Given the description of an element on the screen output the (x, y) to click on. 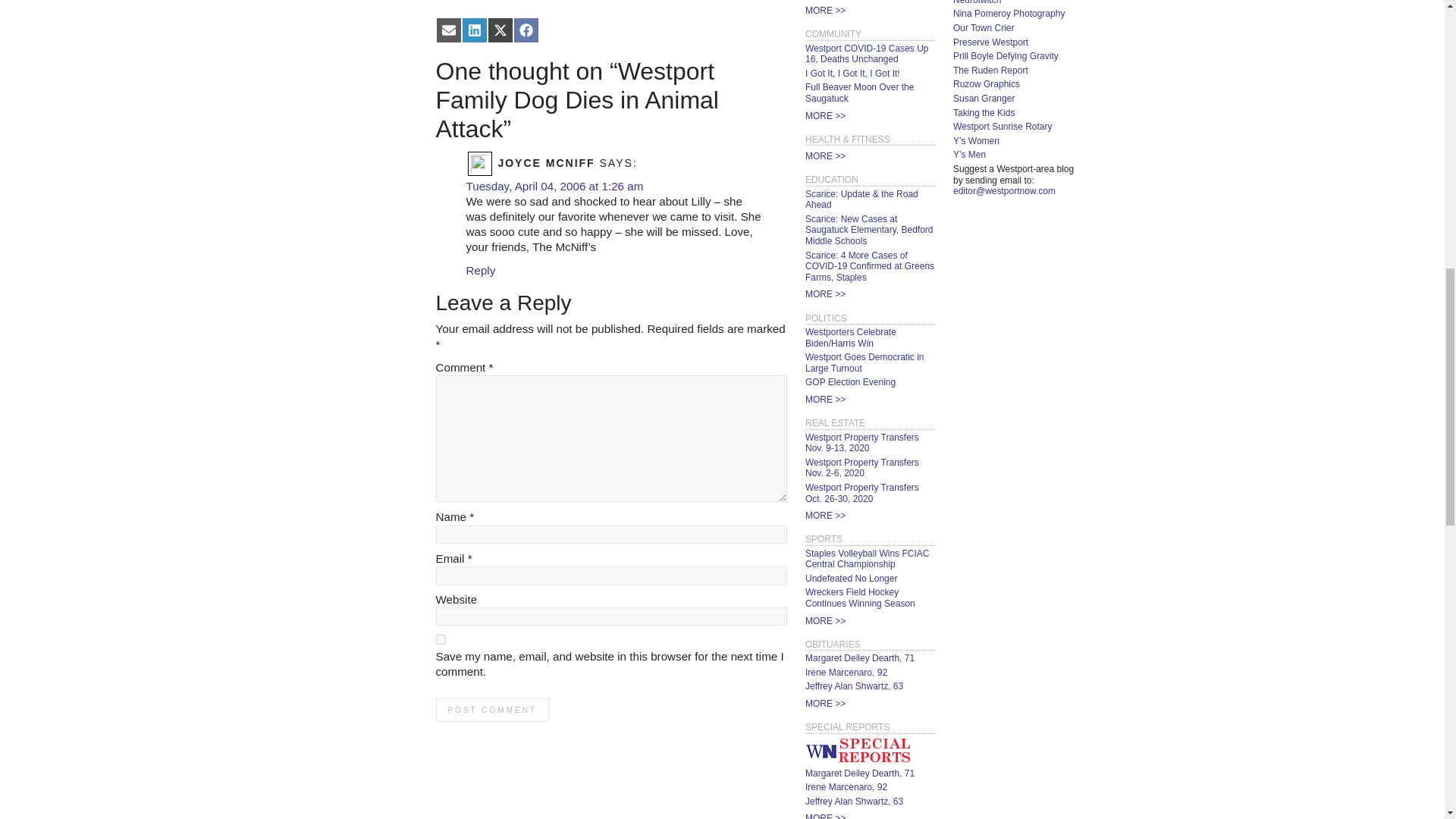
Post Comment (491, 709)
Westport COVID-19 Cases Up 16, Deaths Unchanged (866, 54)
Tuesday, April 04, 2006 at 1:26 am (554, 185)
Share on Facebook (525, 29)
Share on Email (448, 29)
yes (440, 639)
Full Beaver Moon Over the Saugatuck (859, 92)
Post Comment (491, 709)
Reply (480, 269)
Share on LinkedIn (473, 29)
I Got It, I Got It, I Got It! (852, 72)
